Given the description of an element on the screen output the (x, y) to click on. 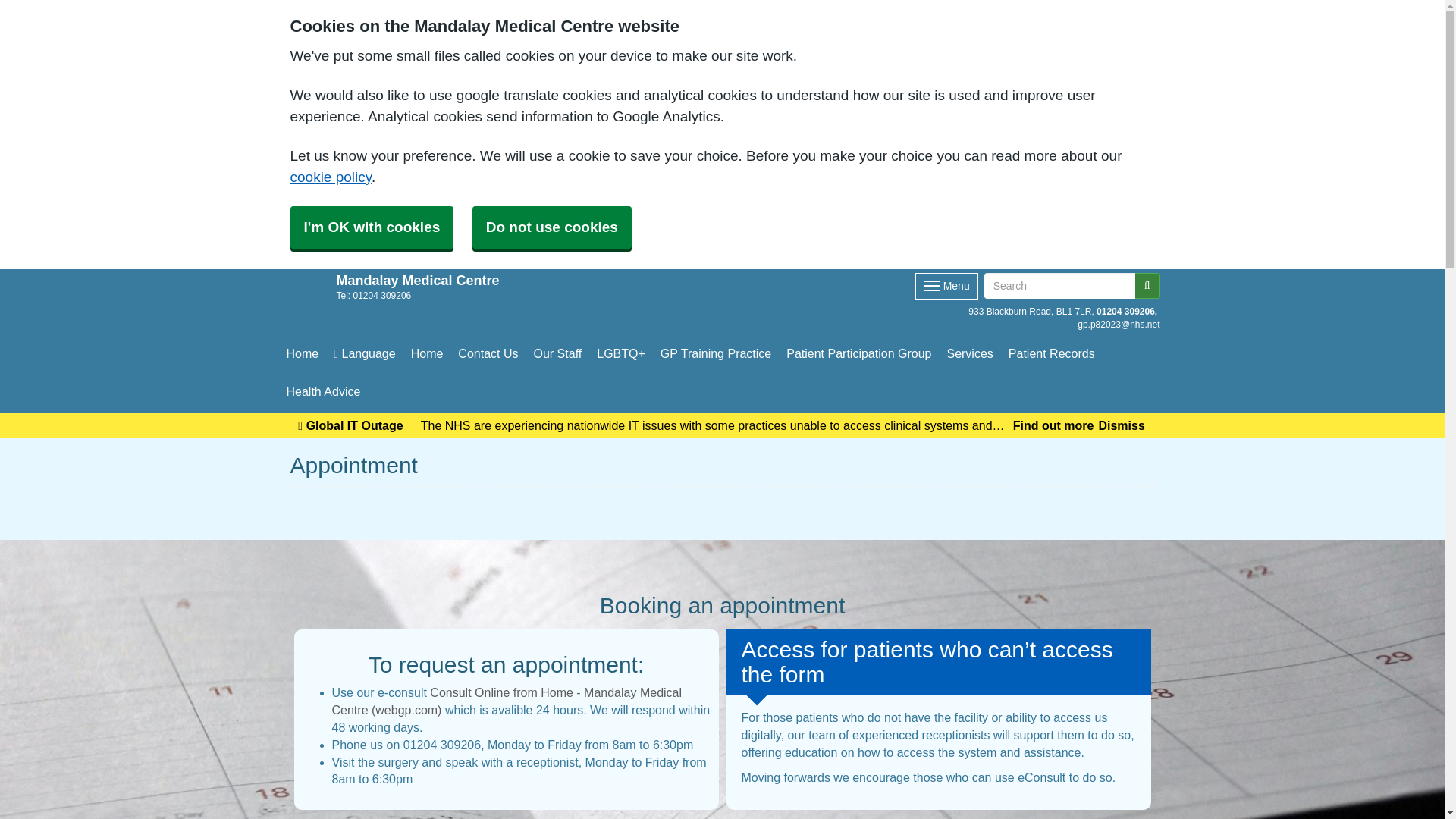
Menu (946, 285)
Contact Us (487, 353)
Our Staff (557, 353)
Language (364, 353)
cookie policy (330, 176)
01204 309206 (1127, 311)
Home (302, 353)
Do not use cookies (551, 227)
Home (427, 353)
I'm OK with cookies (392, 295)
